Given the description of an element on the screen output the (x, y) to click on. 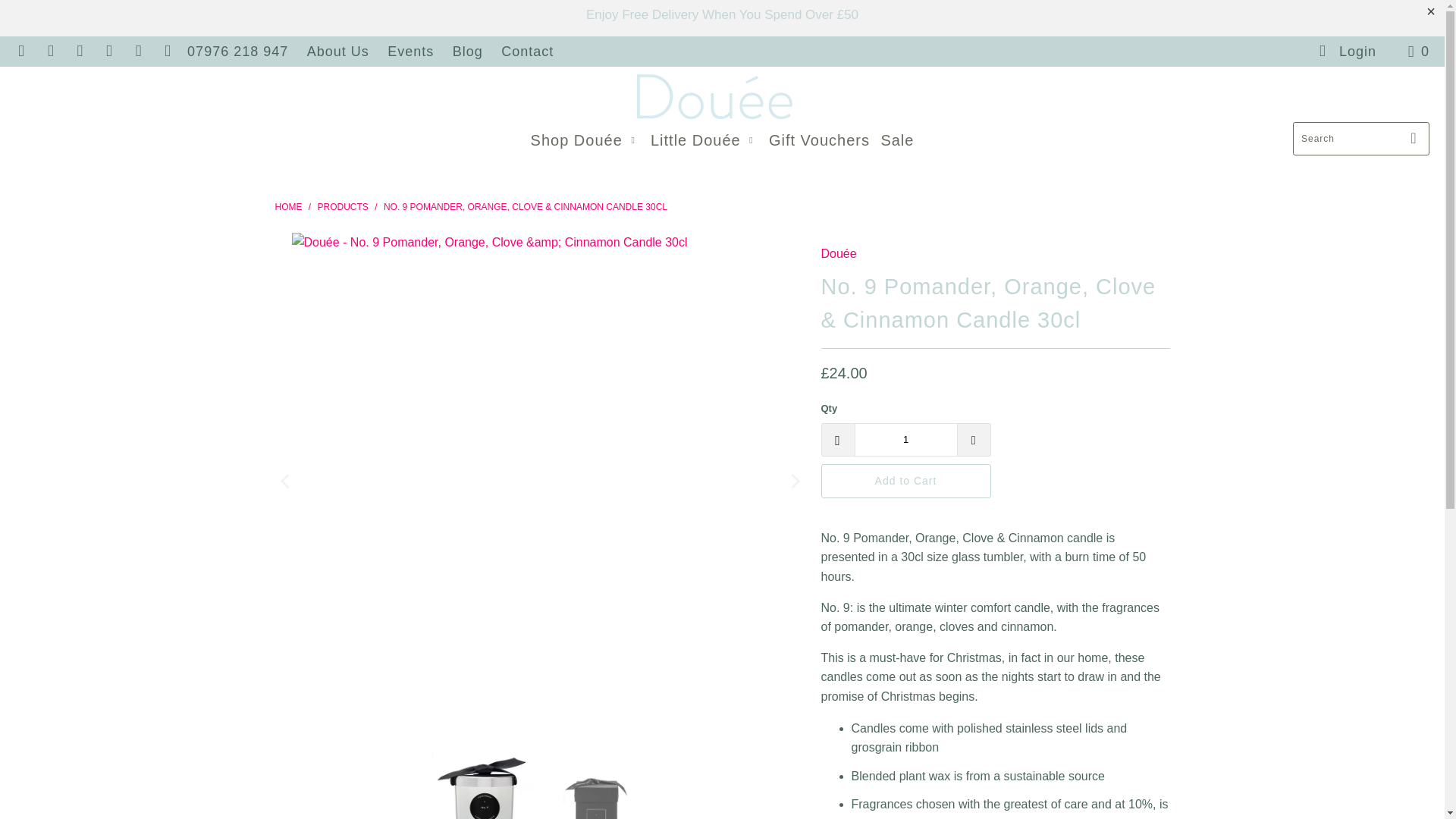
1 (904, 439)
My Account  (1346, 51)
Products (342, 206)
